Given the description of an element on the screen output the (x, y) to click on. 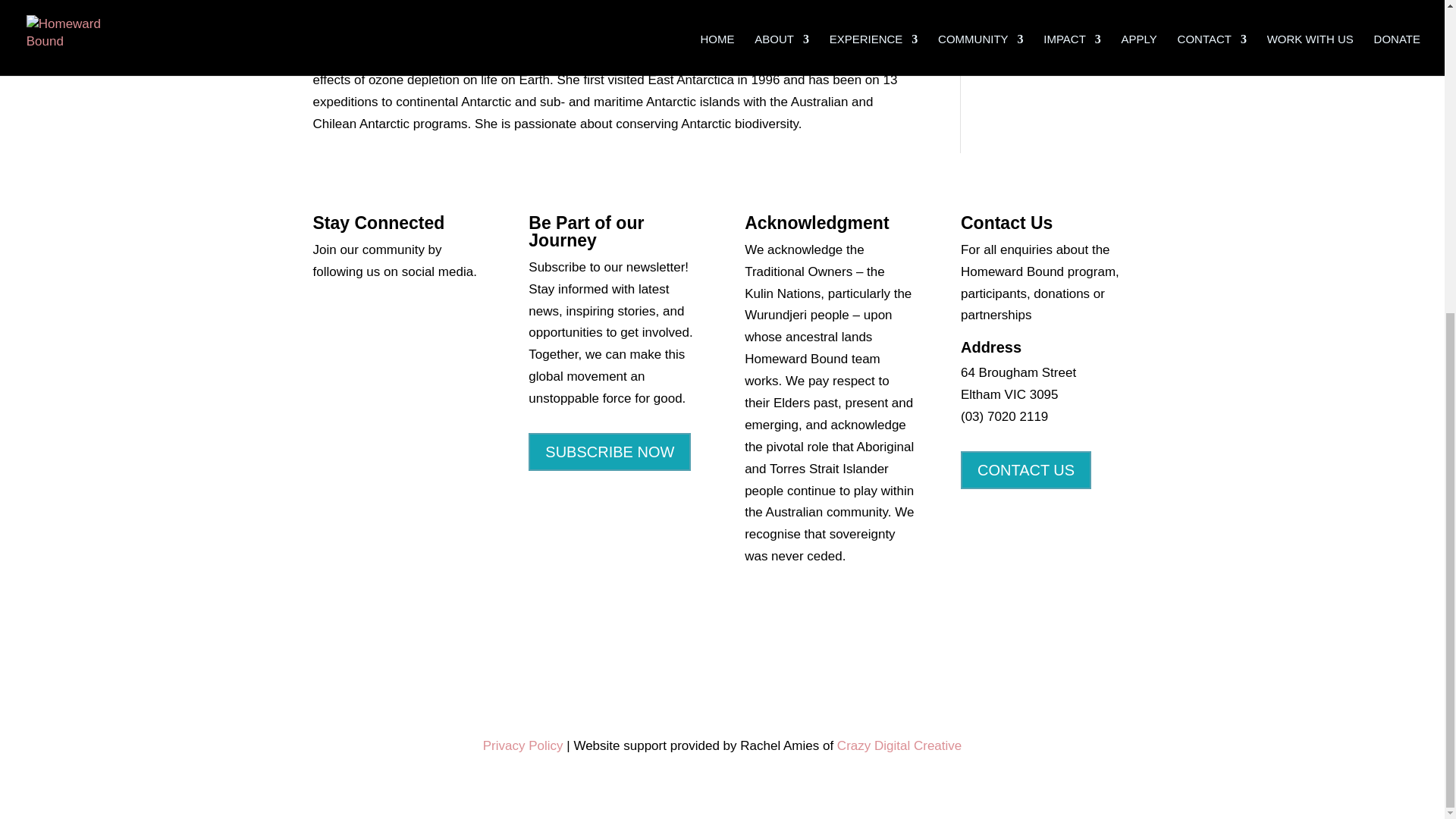
Follow on Instagram (384, 317)
Follow on Youtube (445, 317)
Follow on Facebook (324, 317)
Follow on LinkedIn (415, 317)
Follow on Twitter (354, 317)
